Given the description of an element on the screen output the (x, y) to click on. 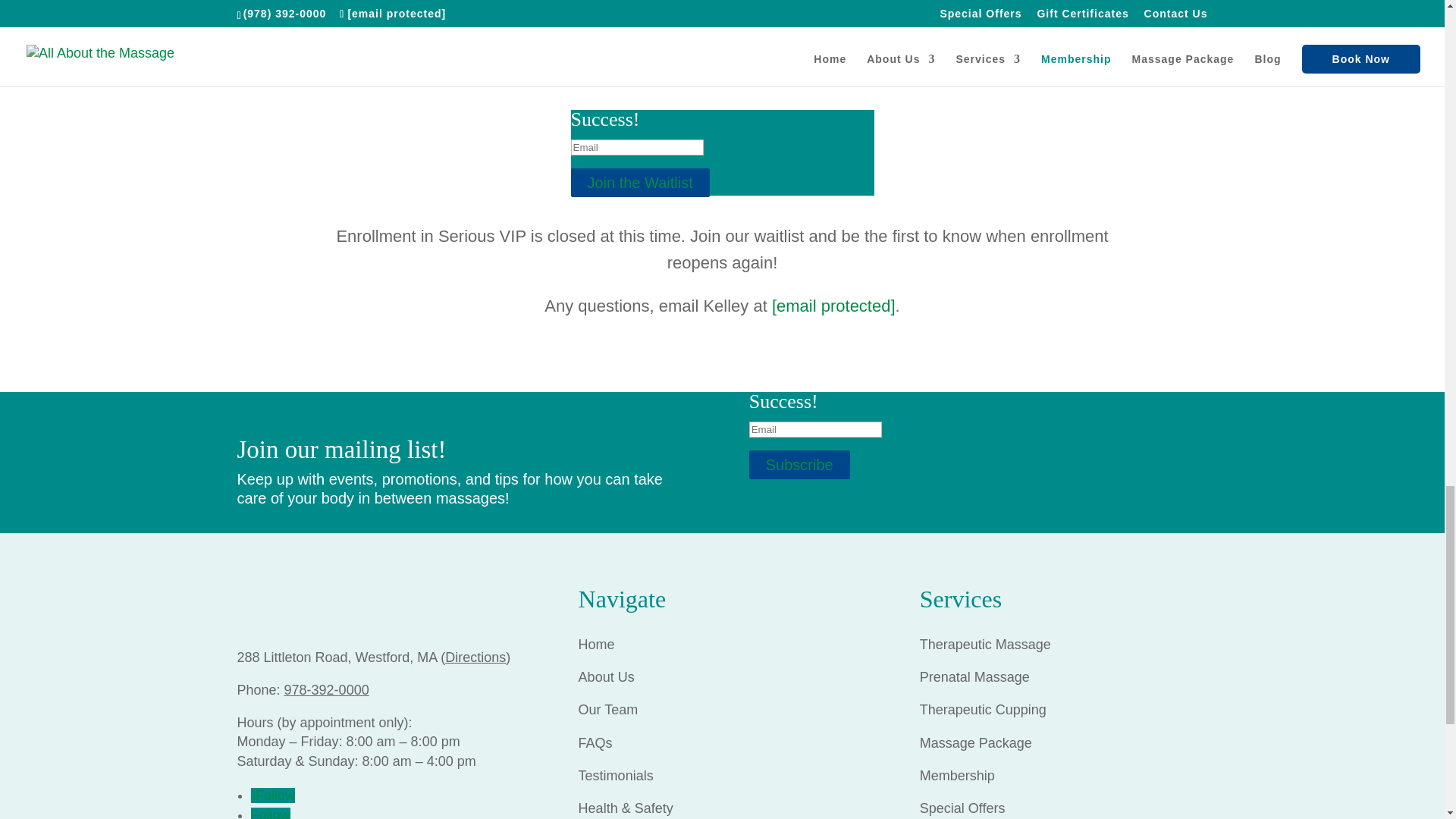
Testimonials (615, 775)
Follow (272, 795)
FAQs  (596, 743)
Subscribe (799, 464)
About Us (606, 676)
Follow on Facebook (272, 795)
All About The Massage Logo (379, 605)
978-392-0000 (326, 689)
Our Team (608, 709)
Follow on Google (269, 813)
